Given the description of an element on the screen output the (x, y) to click on. 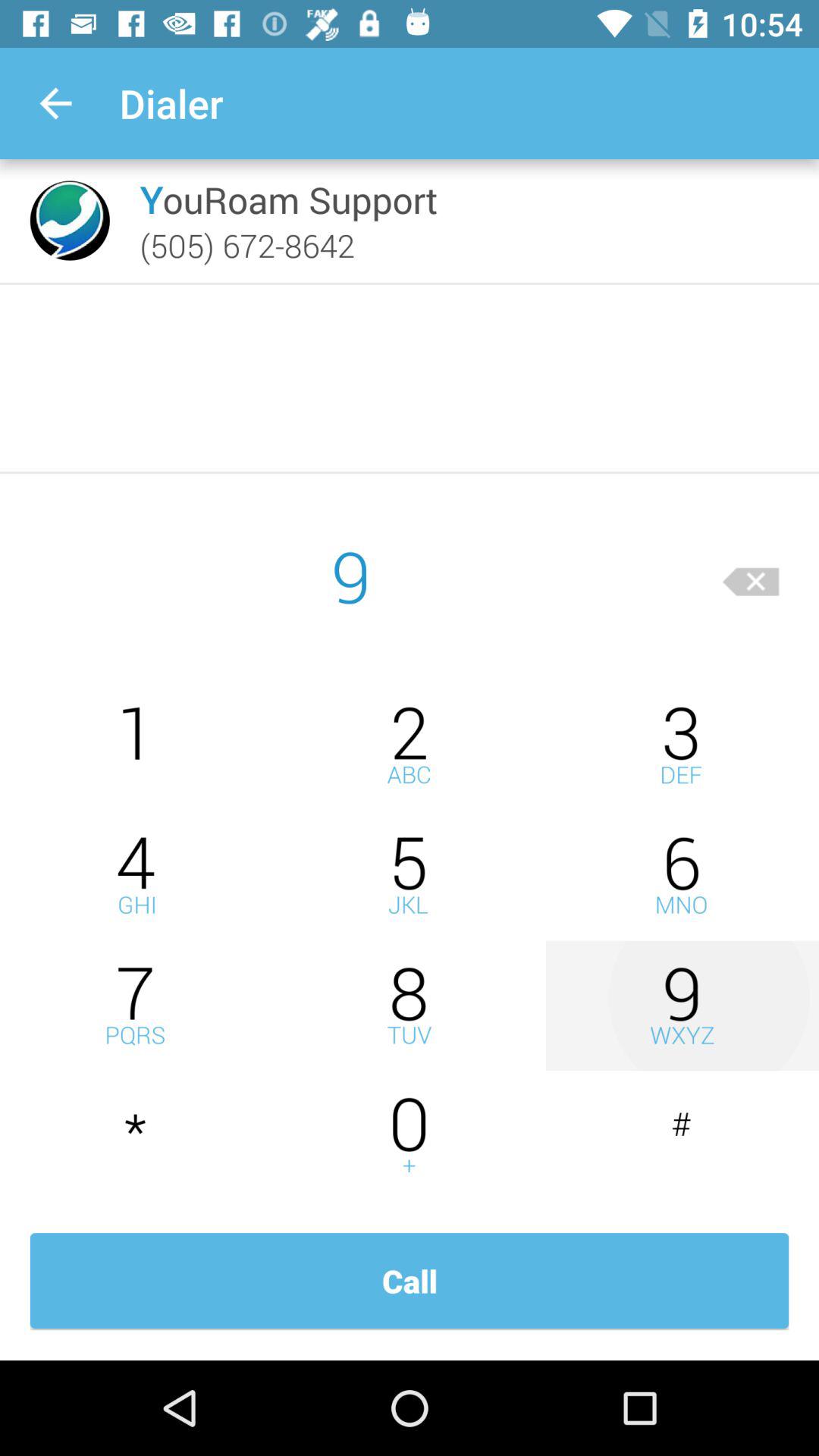
slect eight (409, 1005)
